Given the description of an element on the screen output the (x, y) to click on. 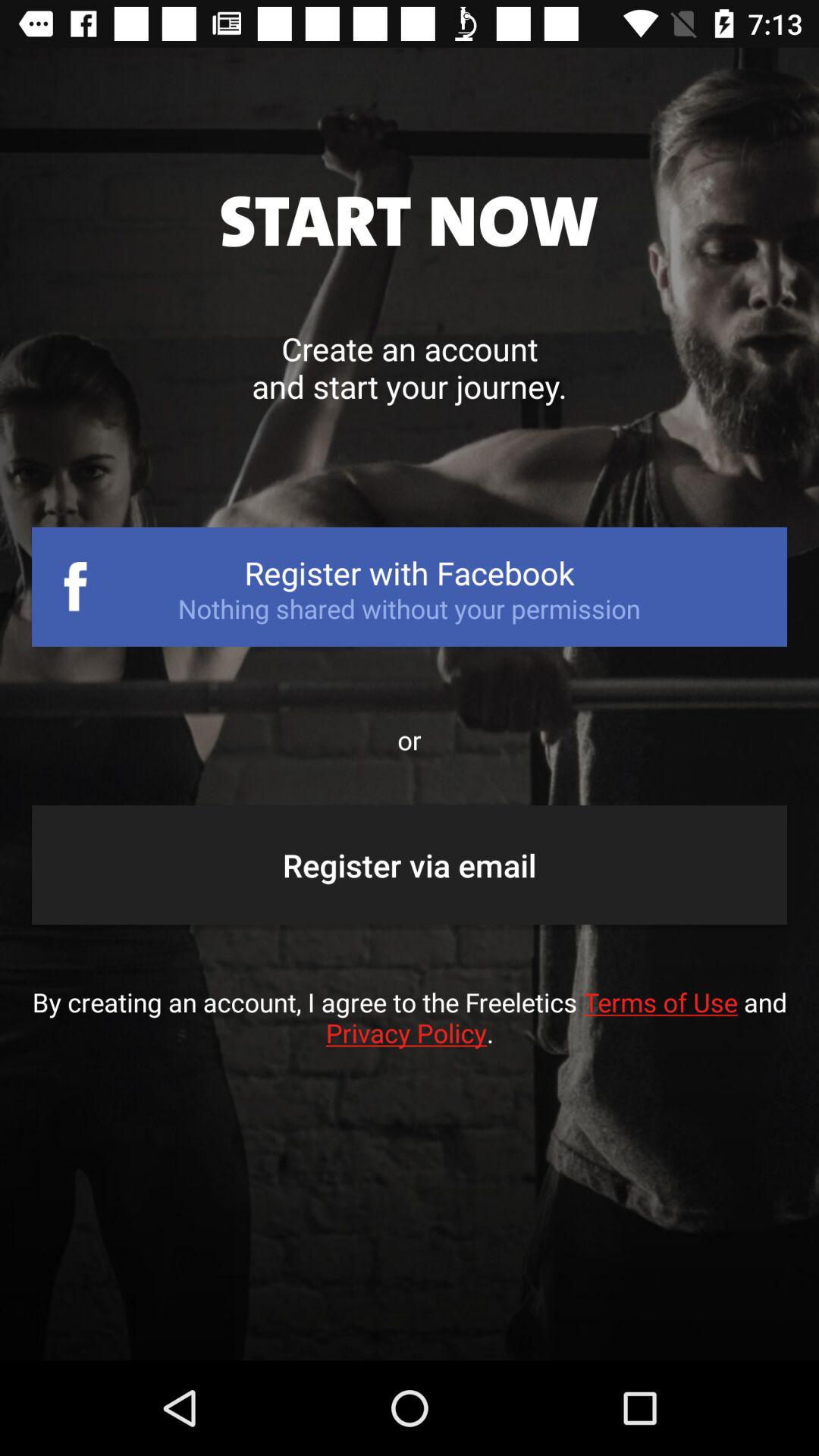
jump to by creating an icon (409, 1033)
